Given the description of an element on the screen output the (x, y) to click on. 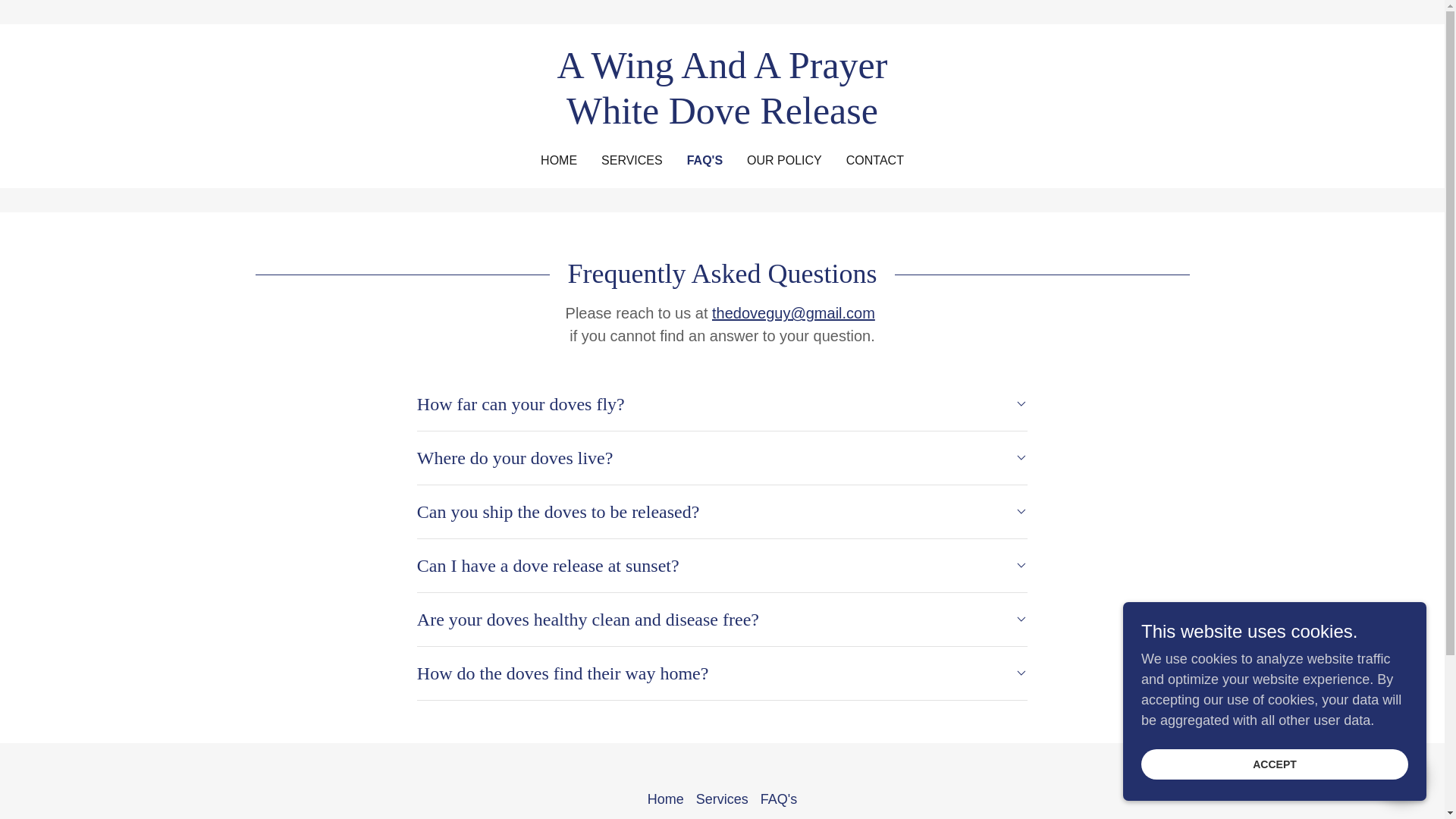
Can you ship the doves to be released? (721, 511)
ACCEPT (1274, 764)
Services (722, 799)
How do the doves find their way home? (721, 673)
How far can your doves fly? (721, 403)
Are your doves healthy clean and disease free? (721, 619)
FAQ's (778, 799)
SERVICES (631, 160)
HOME (557, 160)
OUR POLICY (784, 160)
